Given the description of an element on the screen output the (x, y) to click on. 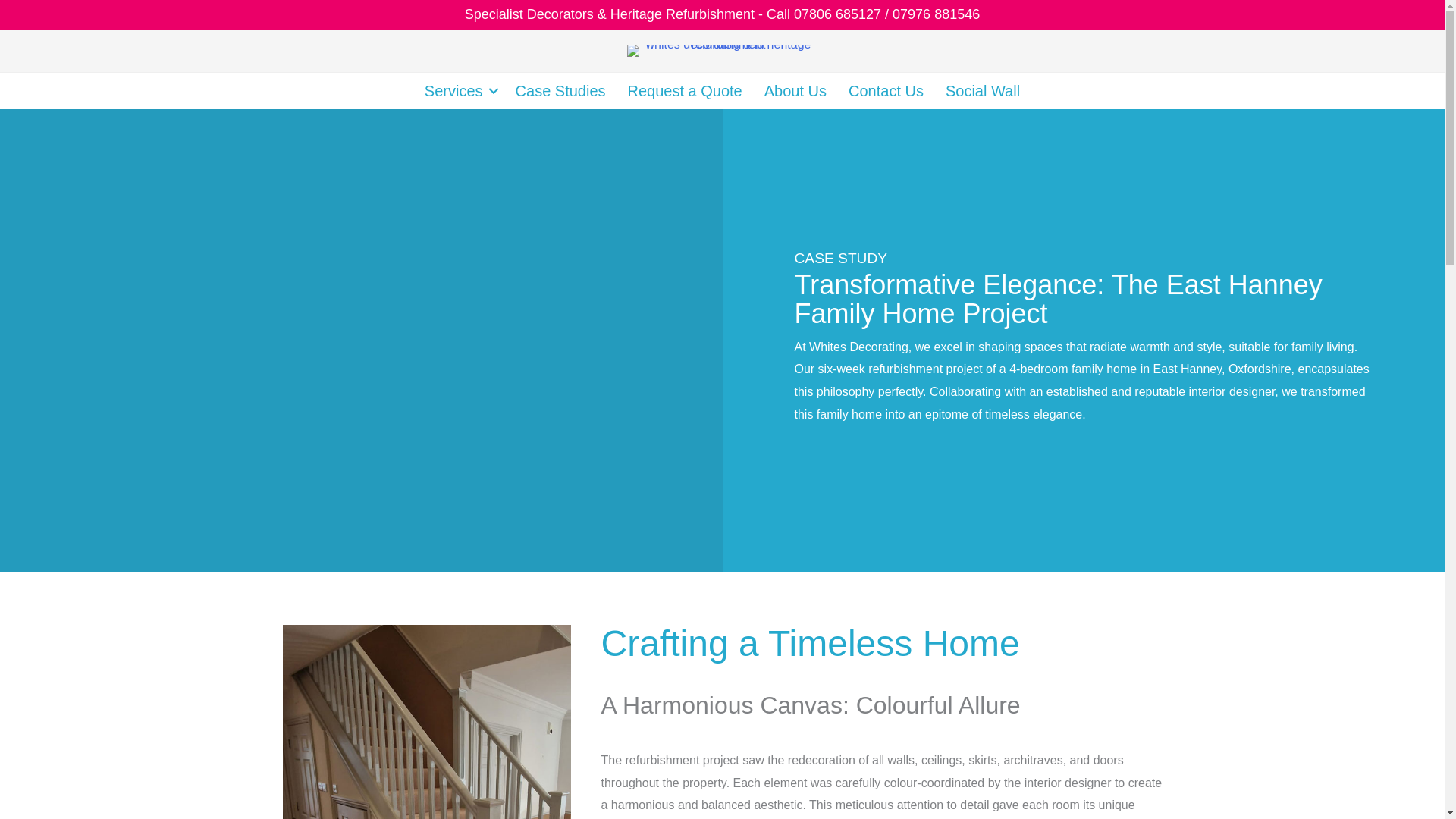
East-Hanney-600-x-900-9 (426, 721)
Contact Us (886, 90)
About Us (795, 90)
Case Studies (560, 90)
Social Wall (982, 90)
Services (458, 90)
whites-300-v3 (721, 50)
Request a Quote (684, 90)
